Given the description of an element on the screen output the (x, y) to click on. 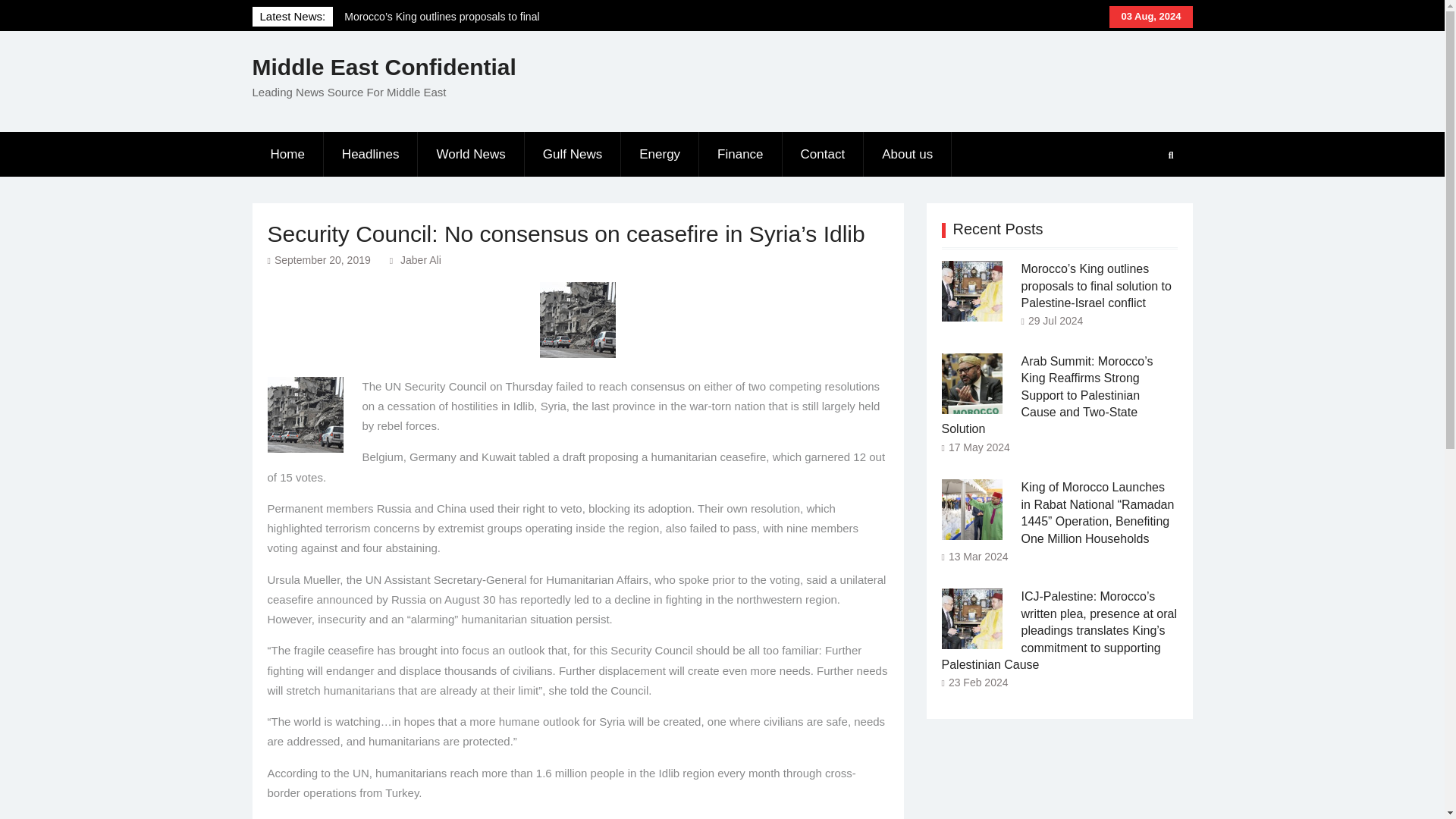
Energy (659, 154)
Home (287, 154)
Gulf News (572, 154)
September 20, 2019 (323, 259)
Headlines (371, 154)
Jaber Ali (420, 259)
World News (470, 154)
About us (907, 154)
Finance (739, 154)
Contact (823, 154)
Middle East Confidential (383, 66)
